Given the description of an element on the screen output the (x, y) to click on. 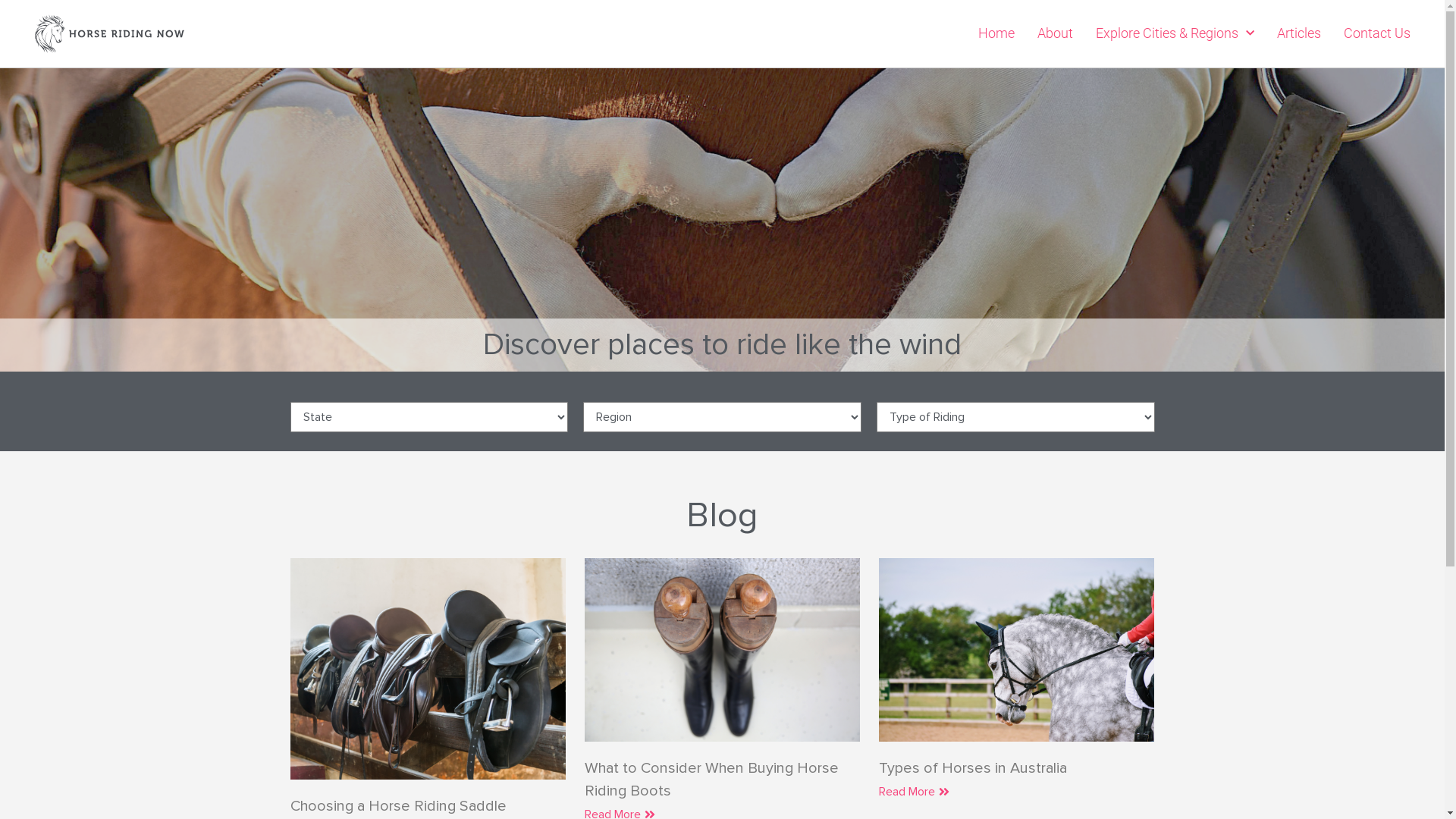
Read More Element type: text (913, 791)
Articles Element type: text (1298, 33)
Contact Us Element type: text (1376, 33)
Home Element type: text (996, 33)
About Element type: text (1055, 33)
Explore Cities & Regions Element type: text (1174, 33)
